Given the description of an element on the screen output the (x, y) to click on. 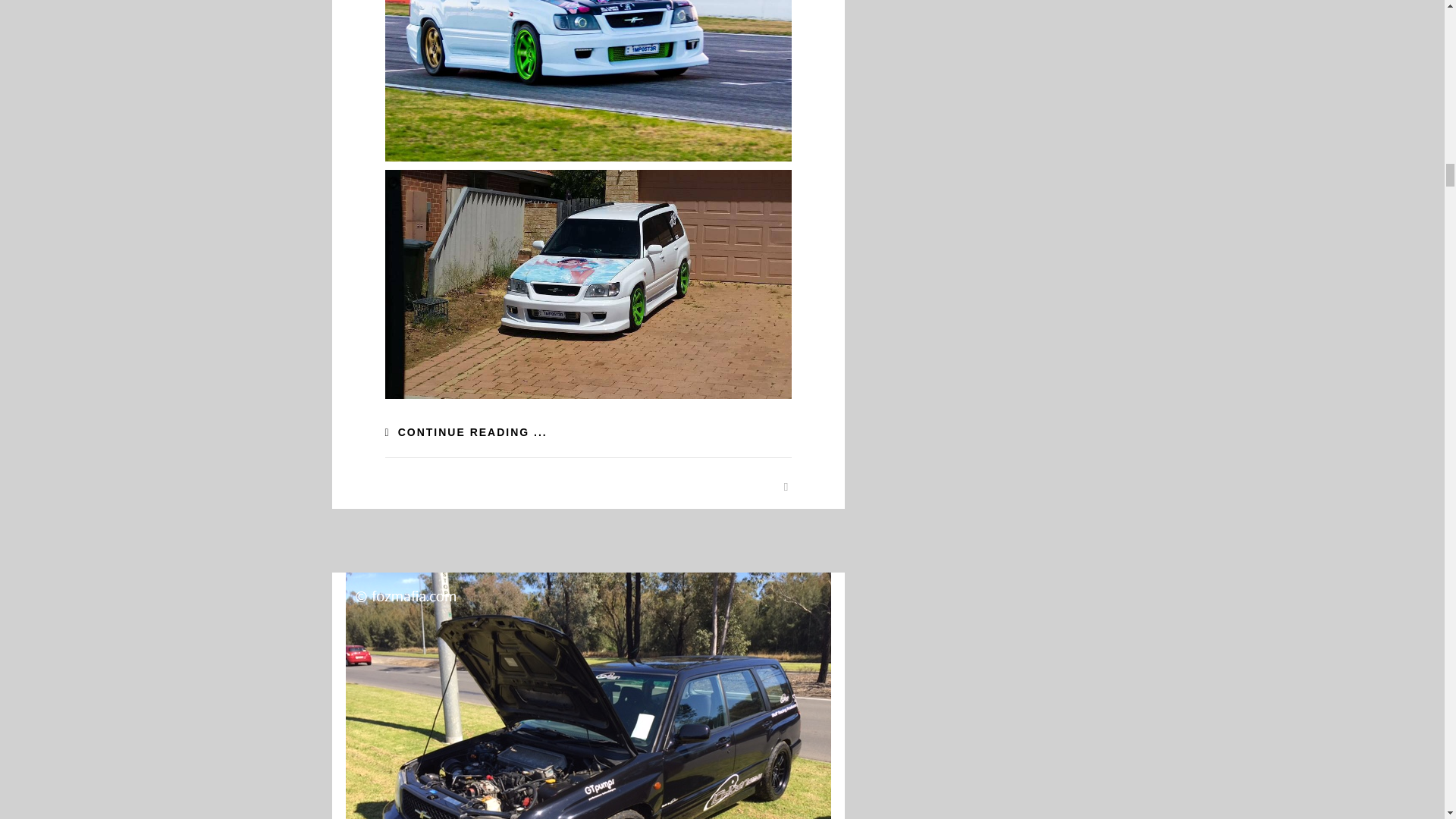
The Toaster (588, 695)
